Given the description of an element on the screen output the (x, y) to click on. 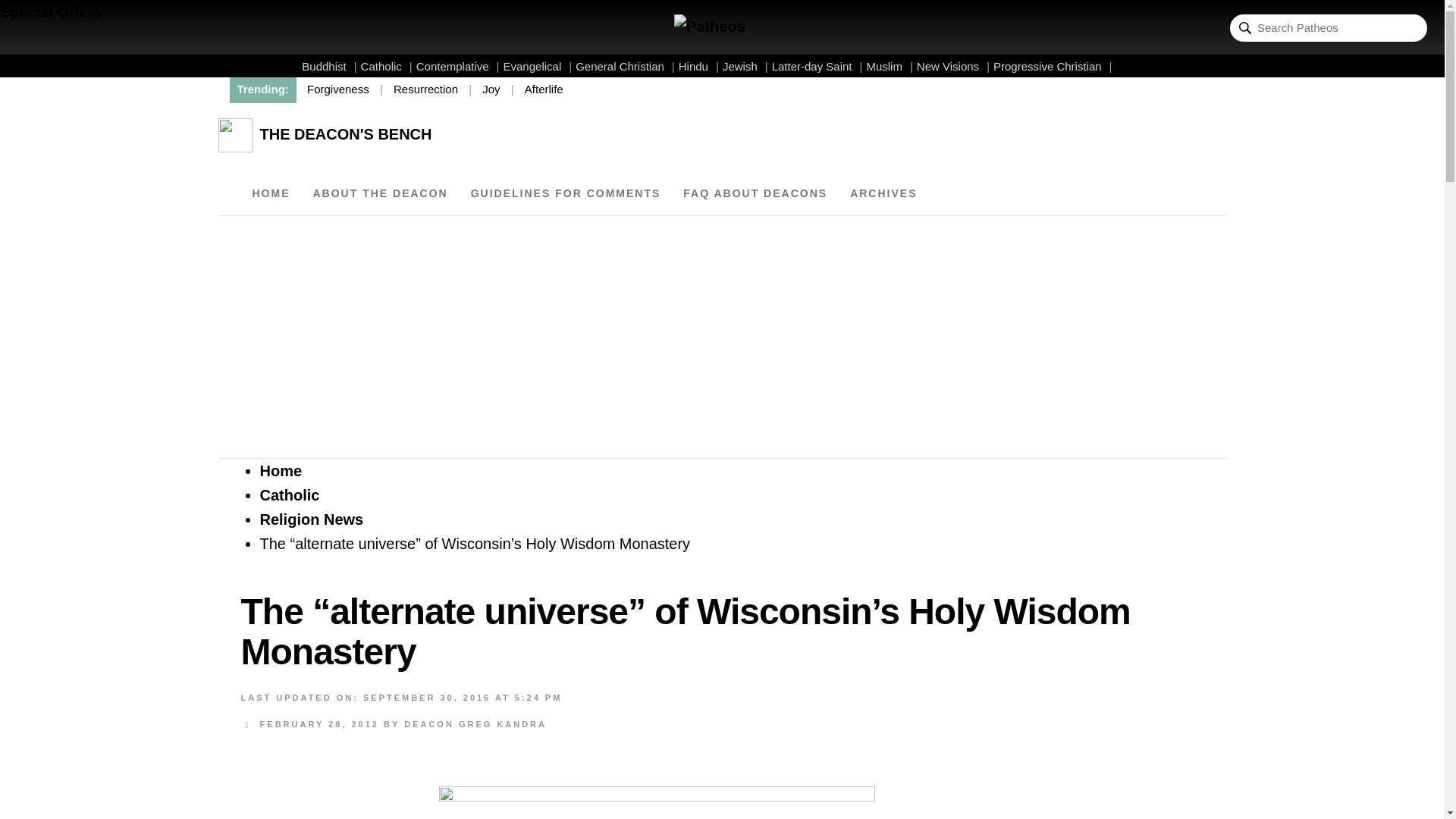
Jewish (745, 65)
Special Offers (50, 12)
Hindu (698, 65)
Catholic (386, 65)
Latter-day Saint (817, 65)
New Visions (953, 65)
General Christian (625, 65)
4f4a78a2a7131.image (657, 801)
Contemplative (457, 65)
Evangelical (537, 65)
